Given the description of an element on the screen output the (x, y) to click on. 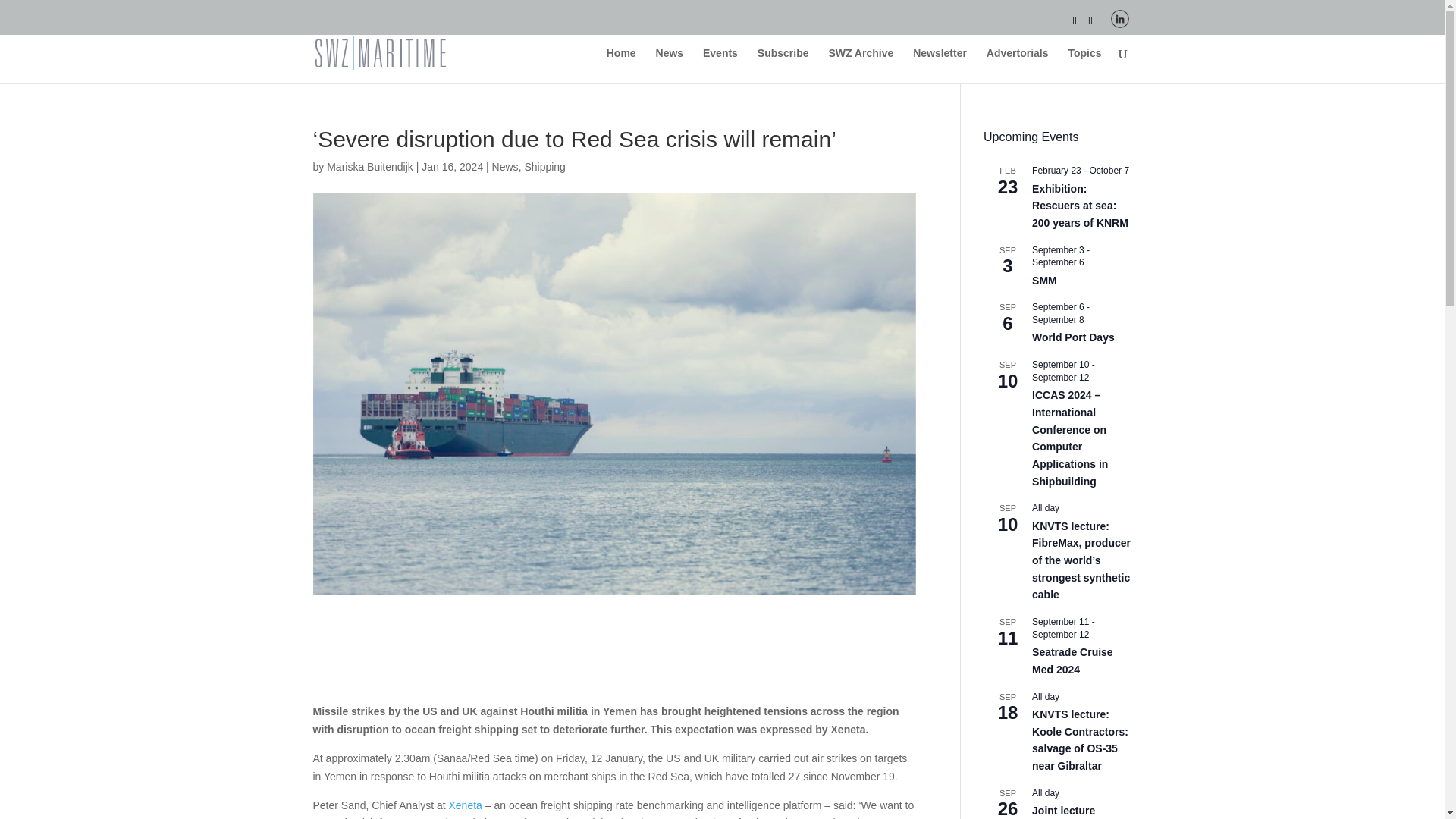
Newsletter (939, 65)
Advertorials (1017, 65)
News (505, 166)
Posts by Mariska Buitendijk (369, 166)
Seatrade Cruise Med 2024 (1072, 661)
Exhibition: Rescuers at sea: 200 years of KNRM (1080, 206)
SMM (1044, 280)
Seatrade Cruise Med 2024 (1072, 661)
Subscribe (783, 65)
